Given the description of an element on the screen output the (x, y) to click on. 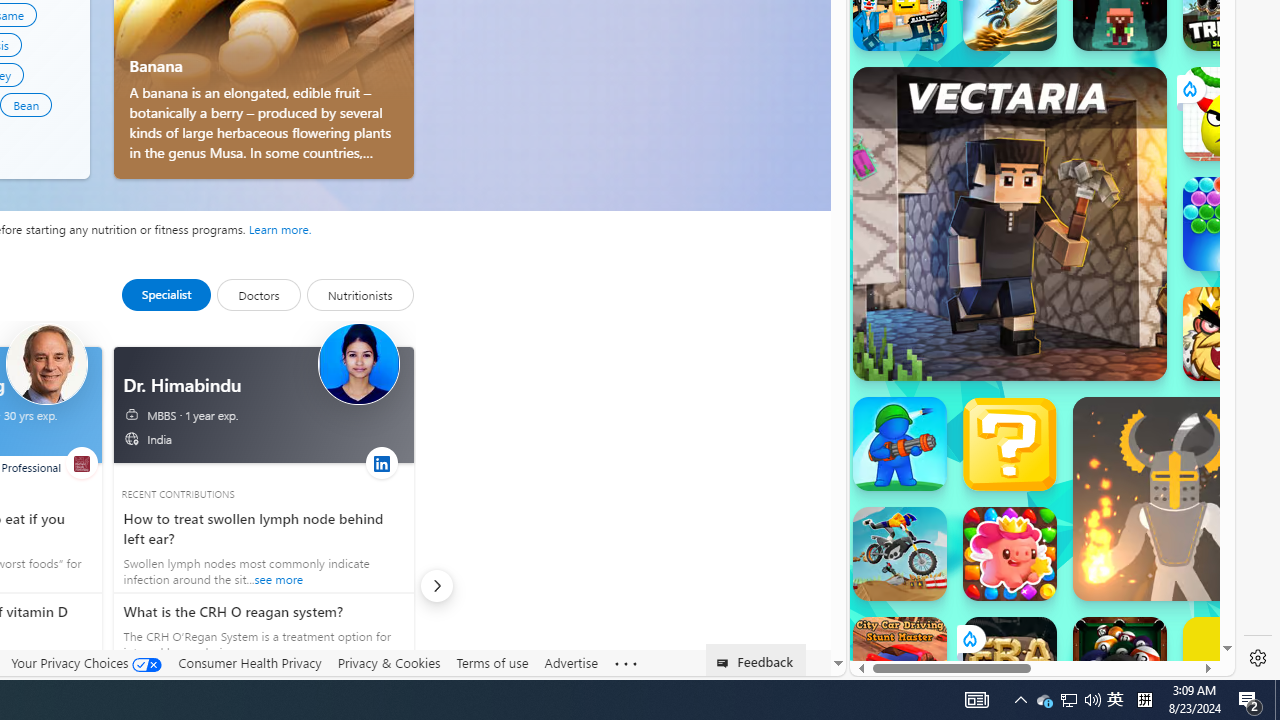
Class: rCs5cyEiqiTpYvt_VBCR (968, 638)
next button (436, 585)
Search results from poki.com (1005, 59)
War Master War Master (899, 443)
linkedin (381, 462)
Draw To Smash: Logic Puzzle Draw To Smash: Logic Puzzle (1229, 113)
Vectaria.io (1009, 223)
Draw To Smash: Logic Puzzle (1229, 113)
Combat Reloaded Combat Reloaded poki.com (1092, 245)
Hills of Steel (943, 200)
8 Ball Pool With Buddies 8 Ball Pool With Buddies (1119, 664)
Ragdoll Hit Ragdoll Hit (1174, 498)
